Given the description of an element on the screen output the (x, y) to click on. 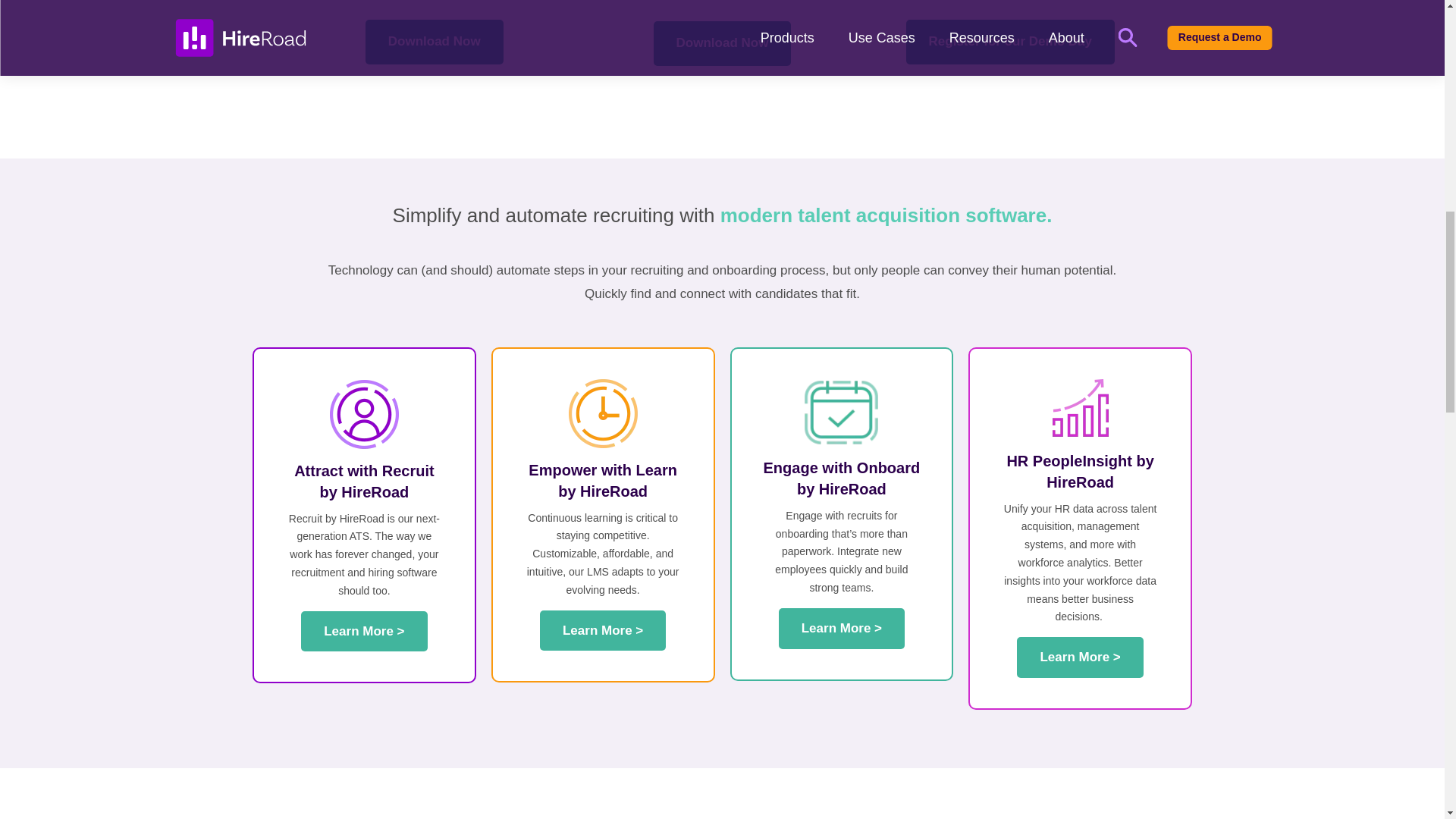
Download Now (722, 43)
Register for our Demo Day (1010, 41)
Download Now (434, 41)
